Given the description of an element on the screen output the (x, y) to click on. 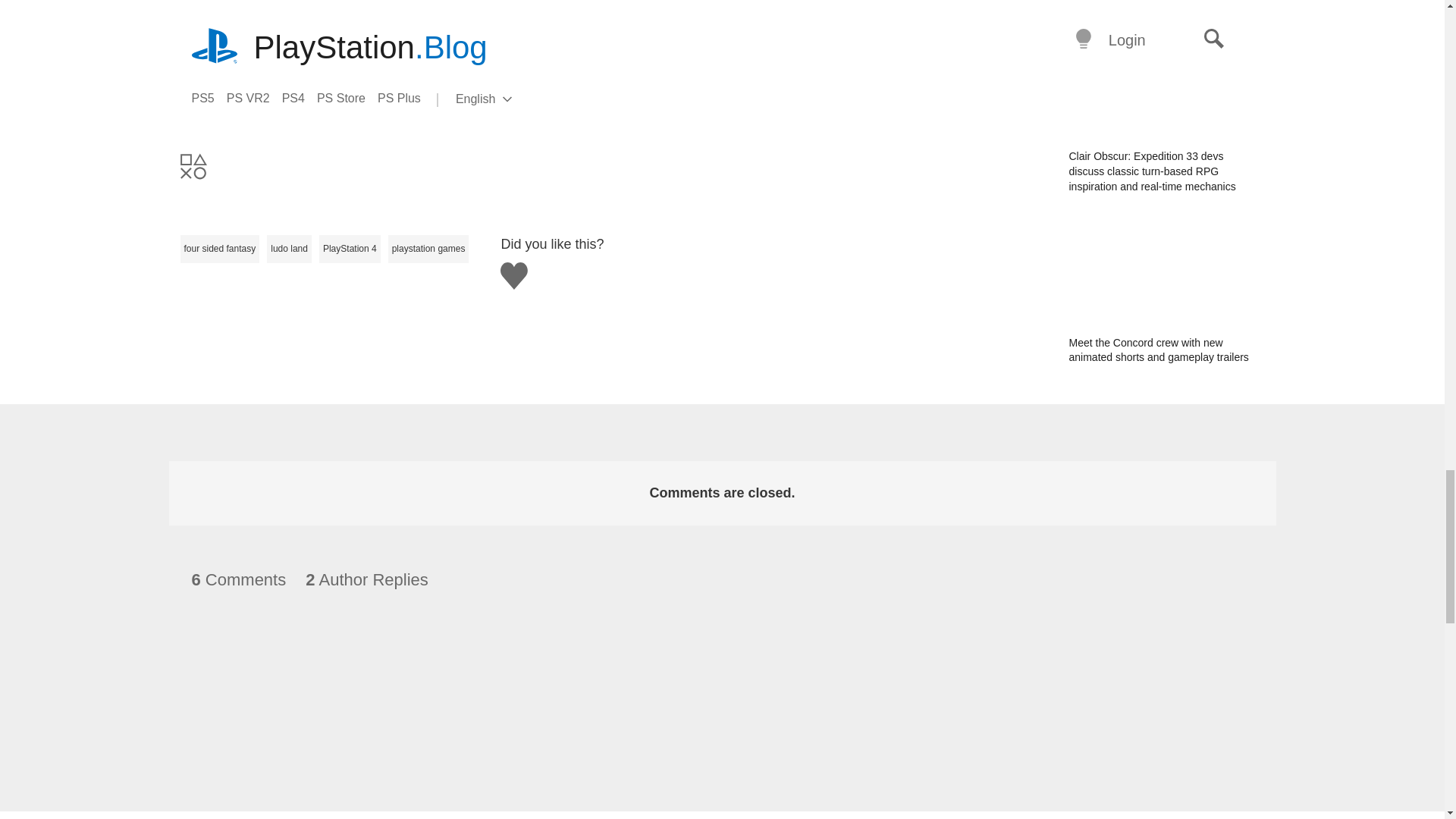
Four Sided Fantasy (534, 9)
